Given the description of an element on the screen output the (x, y) to click on. 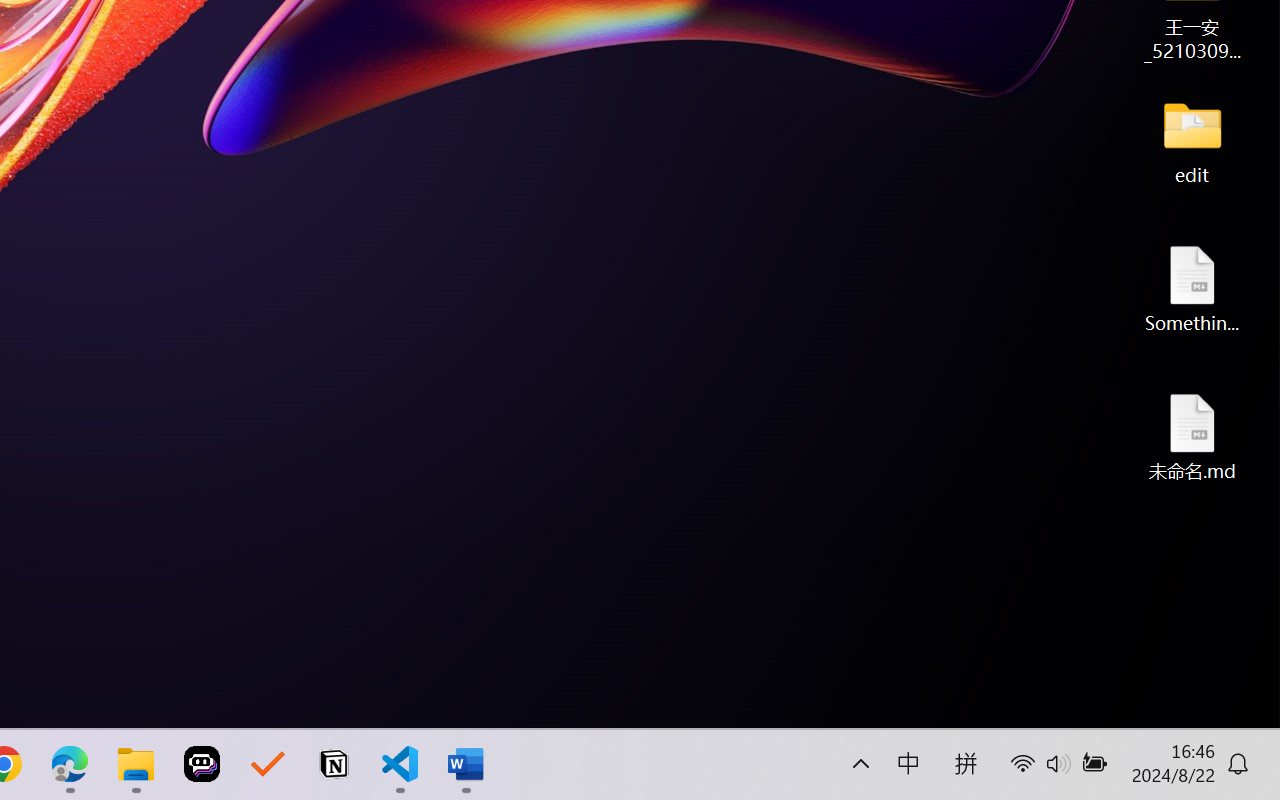
edit (1192, 140)
